Given the description of an element on the screen output the (x, y) to click on. 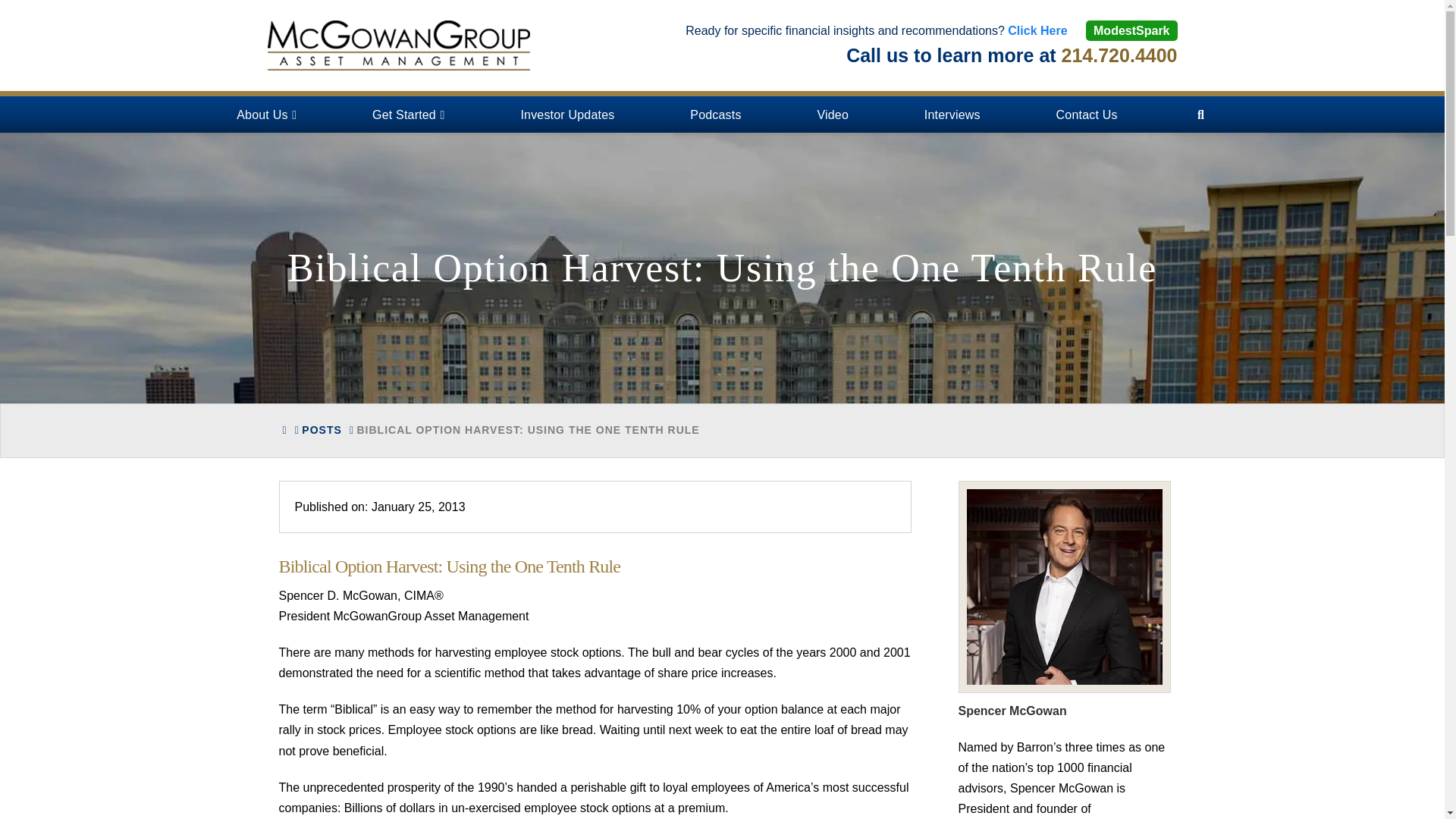
Podcasts (715, 114)
You Are Here (527, 430)
POSTS (320, 430)
BIBLICAL OPTION HARVEST: USING THE ONE TENTH RULE (527, 430)
Contact Us (1086, 114)
About Us (266, 114)
Interviews (951, 114)
Click Here (1037, 30)
214.720.4400 (1119, 55)
Video (832, 114)
ModestSpark (1131, 30)
Investor Updates (566, 114)
Get Started (408, 114)
Top 8 wealth management firms as named by Forbes (397, 45)
